Given the description of an element on the screen output the (x, y) to click on. 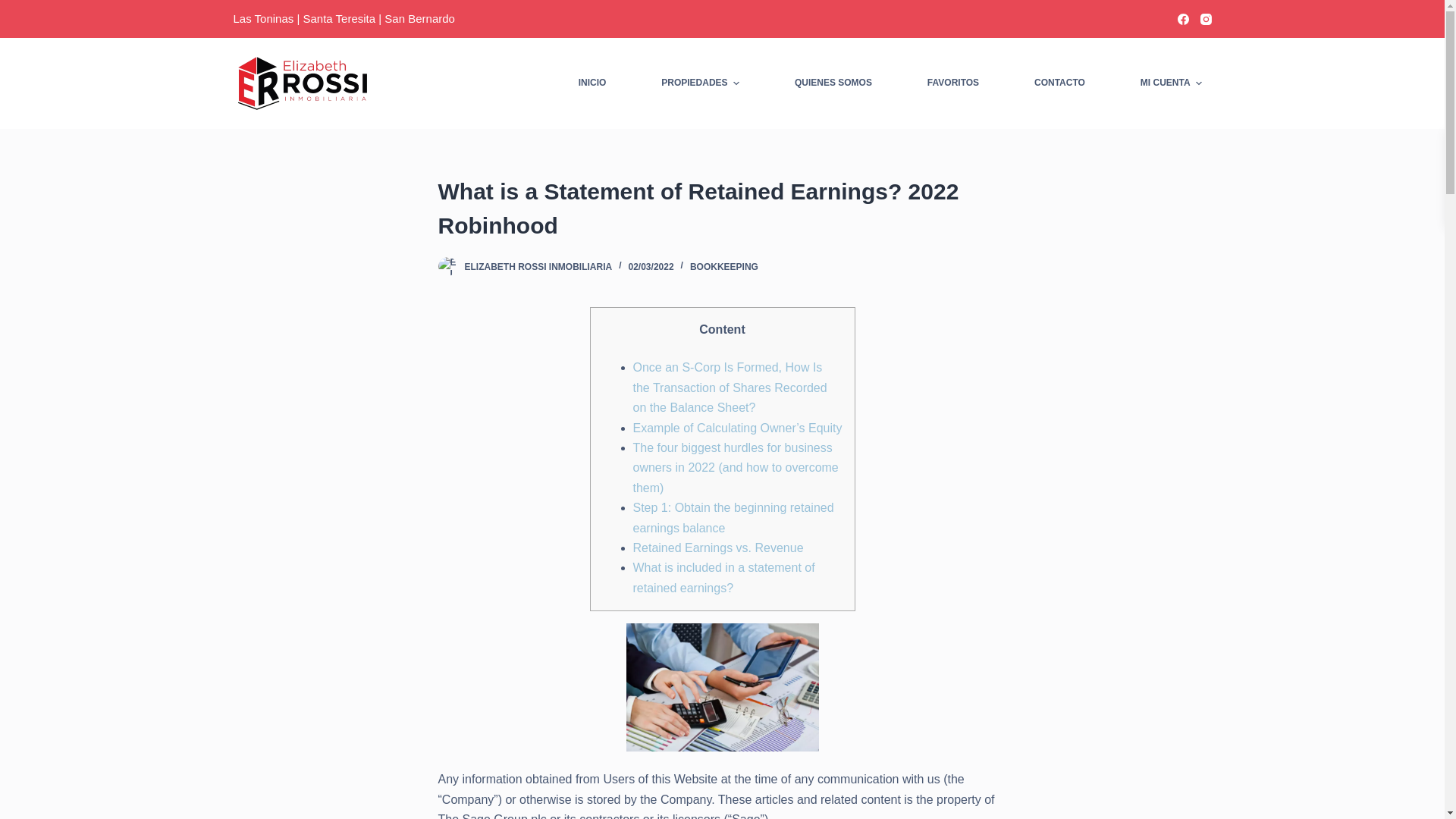
QUIENES SOMOS (832, 82)
Step 1: Obtain the beginning retained earnings balance (731, 517)
Saltar al contenido (15, 7)
PROPIEDADES (700, 82)
Entradas de Elizabeth Rossi Inmobiliaria (537, 266)
Retained Earnings vs. Revenue (717, 547)
BOOKKEEPING (724, 266)
ELIZABETH ROSSI INMOBILIARIA (537, 266)
What is included in a statement of retained earnings? (722, 577)
